Given the description of an element on the screen output the (x, y) to click on. 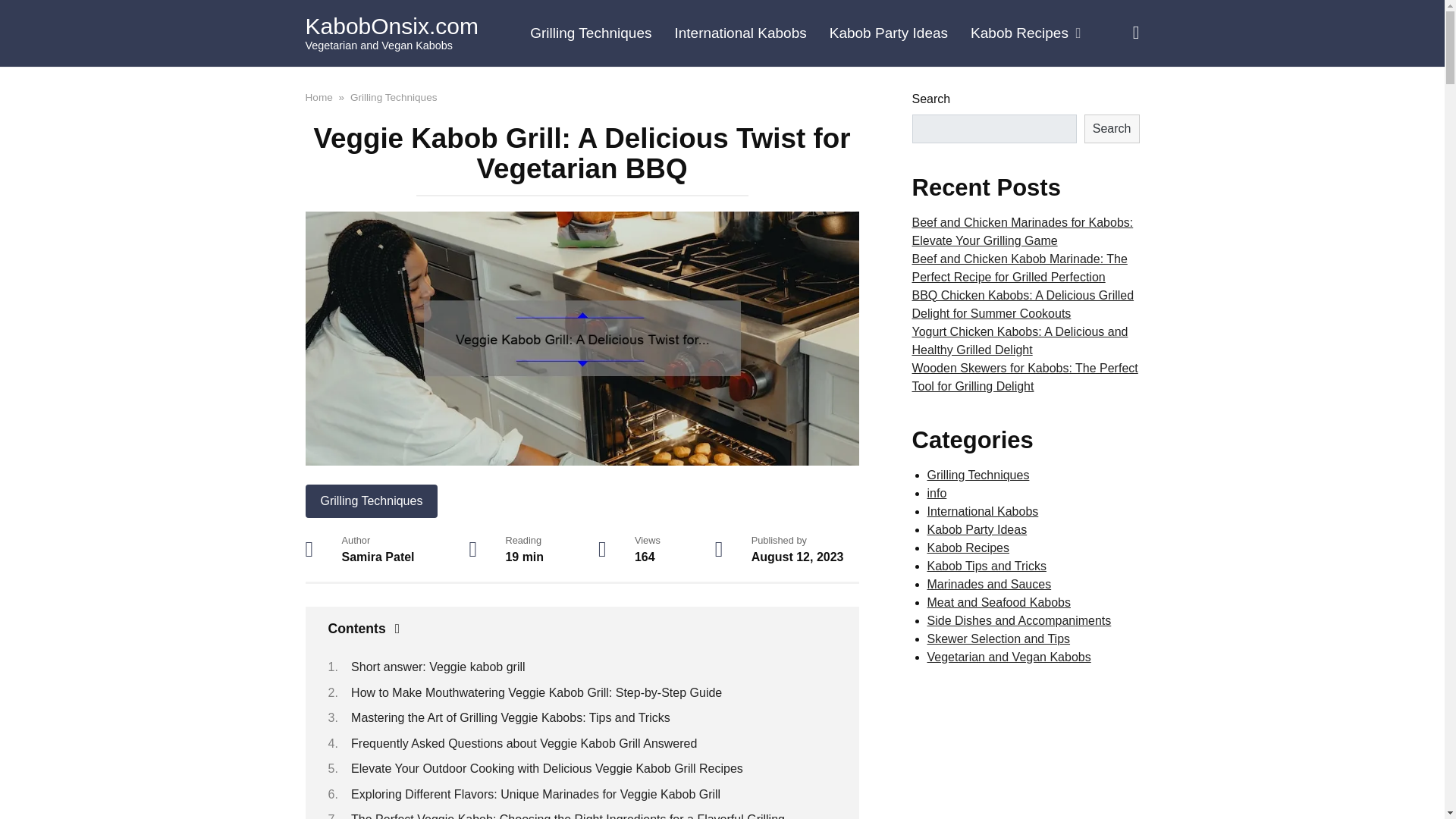
Grilling Techniques (394, 96)
International Kabobs (739, 33)
Mastering the Art of Grilling Veggie Kabobs: Tips and Tricks (509, 717)
Short answer: Veggie kabob grill (437, 666)
Frequently Asked Questions about Veggie Kabob Grill Answered (523, 743)
Kabob Party Ideas (888, 33)
Grilling Techniques (371, 500)
Home (317, 96)
KabobOnsix.com (390, 25)
Grilling Techniques (590, 33)
Kabob Recipes (1025, 33)
